Given the description of an element on the screen output the (x, y) to click on. 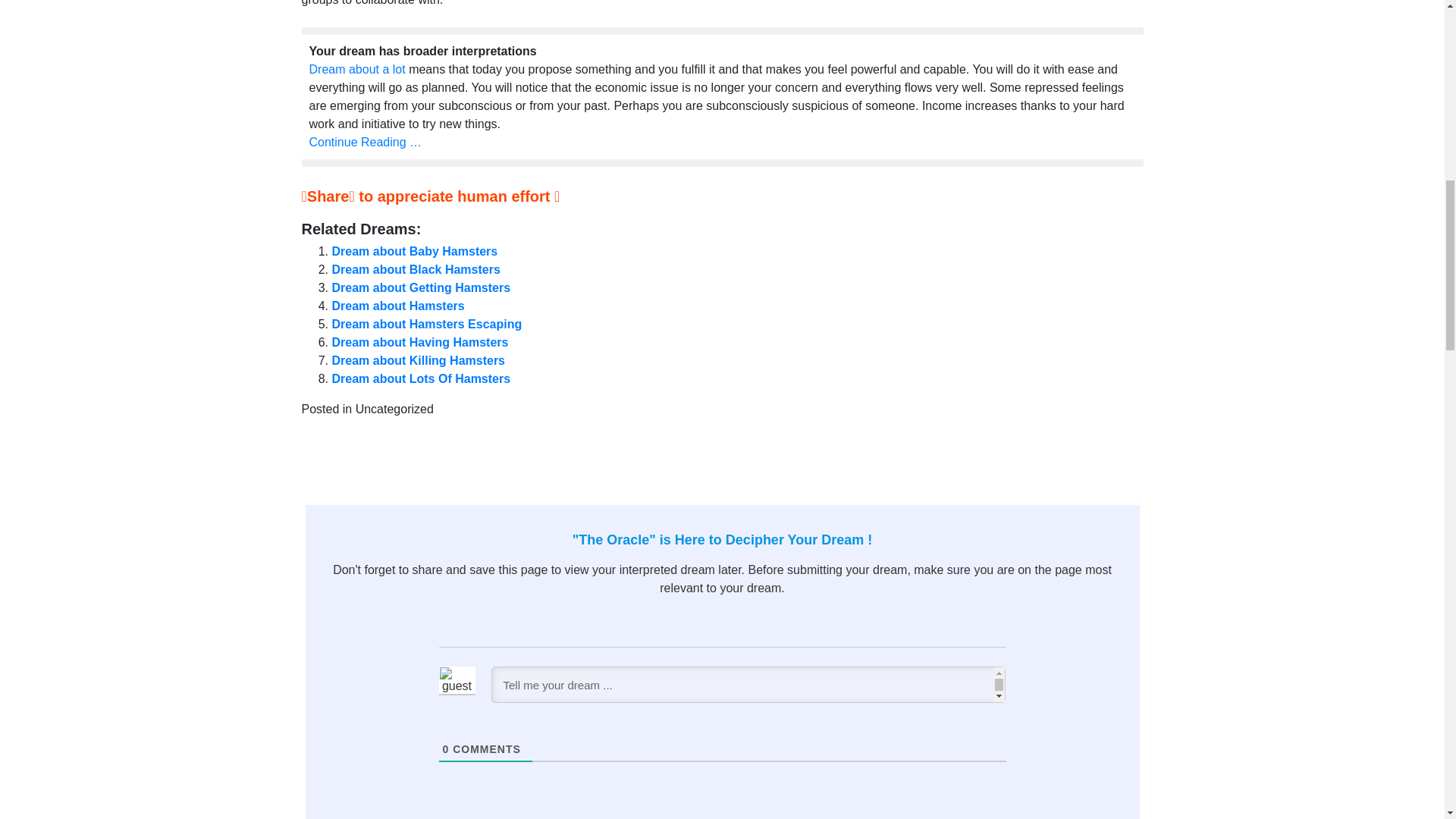
Dream about Hamsters (397, 305)
Dream about Having Hamsters (419, 341)
Dream about Killing Hamsters (418, 359)
Dream about Baby Hamsters (414, 250)
Dream about Hamsters (397, 305)
Dream about Getting Hamsters (421, 287)
Dream about Hamsters Escaping (426, 323)
Dream about Having Hamsters (419, 341)
Dream about Hamsters Escaping (426, 323)
Dream about Black Hamsters (415, 269)
Dream about Black Hamsters (415, 269)
Dream about Lots Of Hamsters (421, 378)
Dream about Killing Hamsters (418, 359)
Dream about Lots Of Hamsters (421, 378)
Dream about a lot (357, 69)
